Given the description of an element on the screen output the (x, y) to click on. 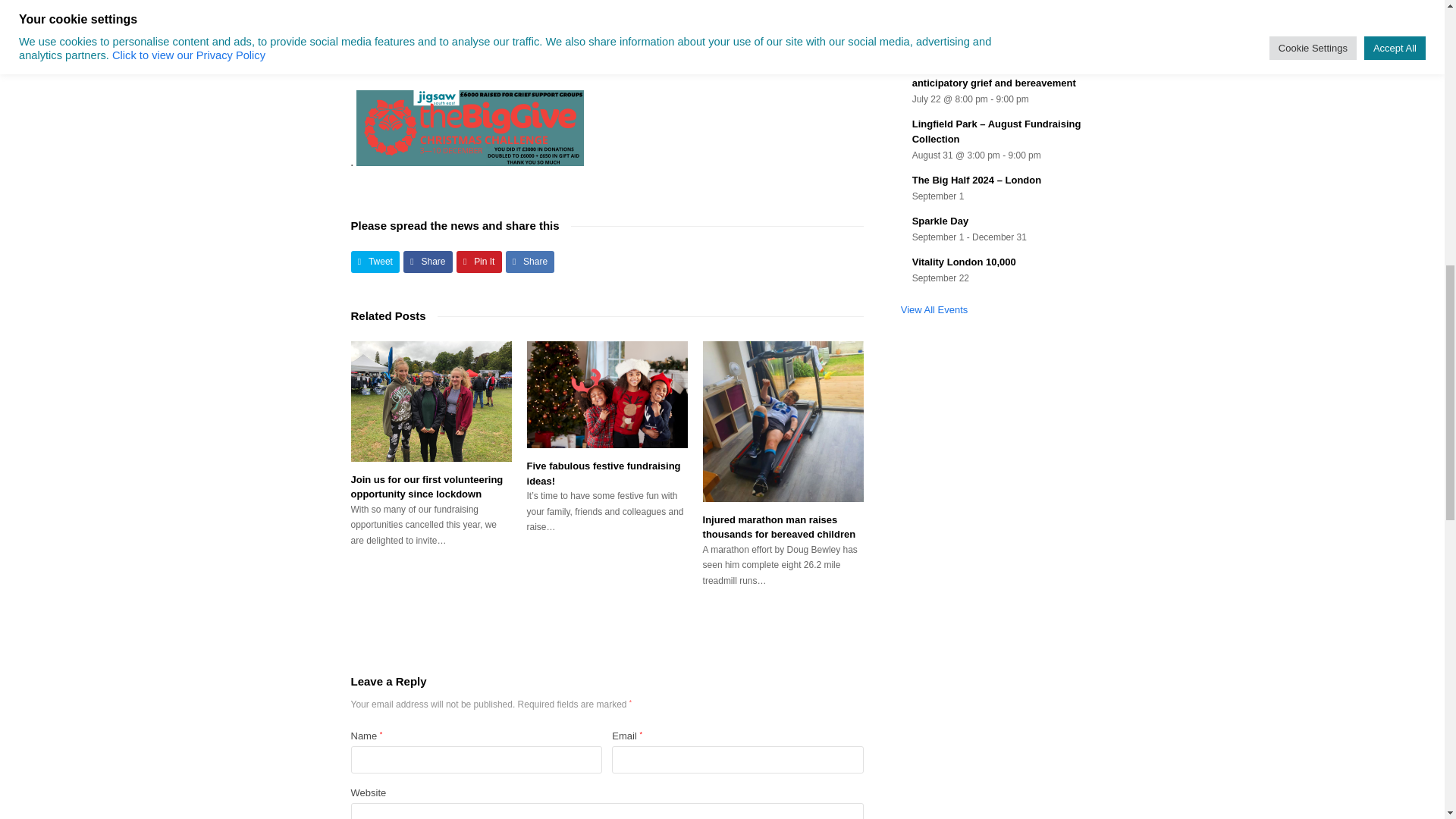
Injured marathon man raises thousands for bereaved children (783, 421)
Five fabulous festive fundraising ideas! (607, 394)
